Given the description of an element on the screen output the (x, y) to click on. 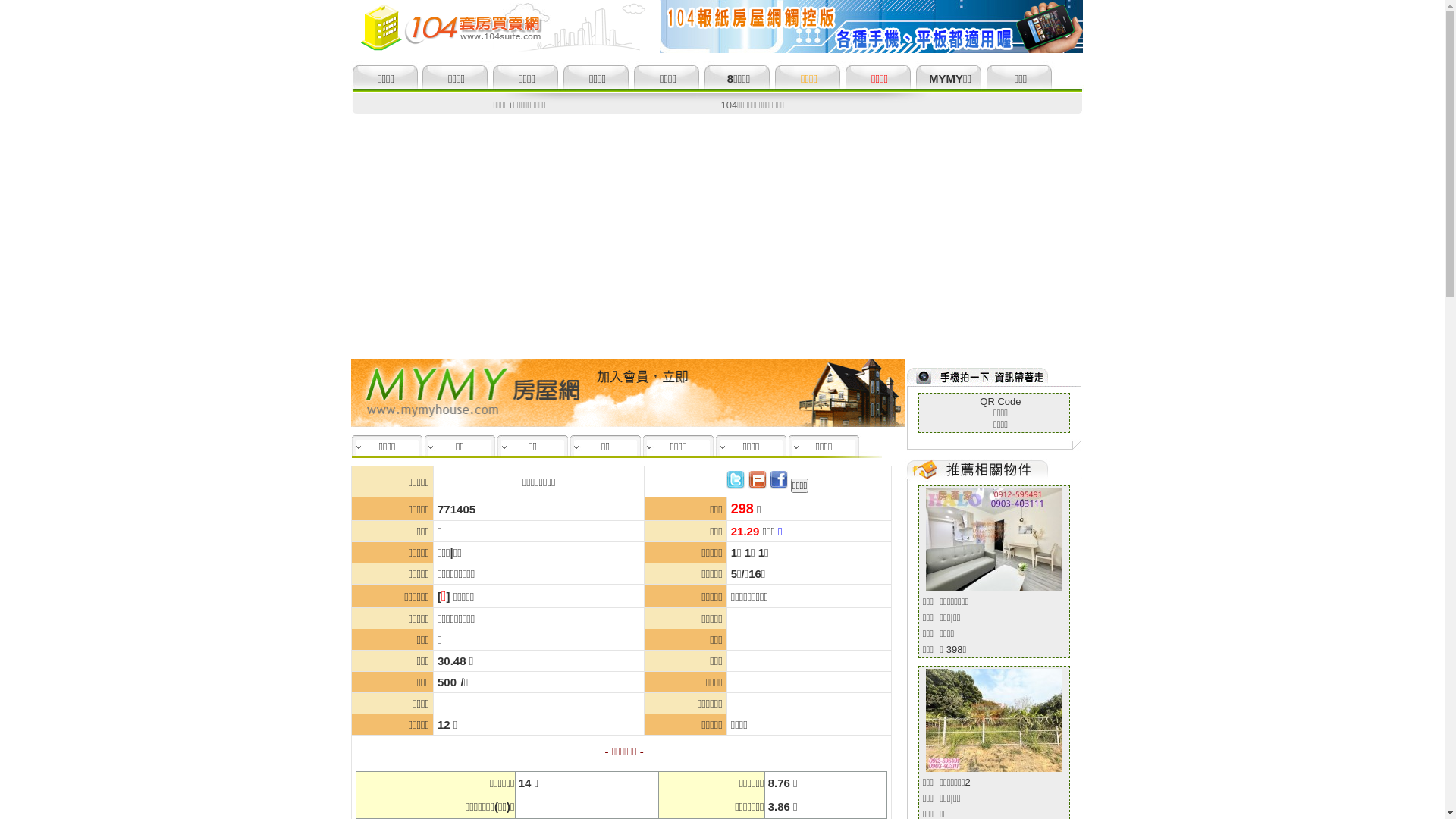
Advertisement Element type: hover (721, 227)
